Given the description of an element on the screen output the (x, y) to click on. 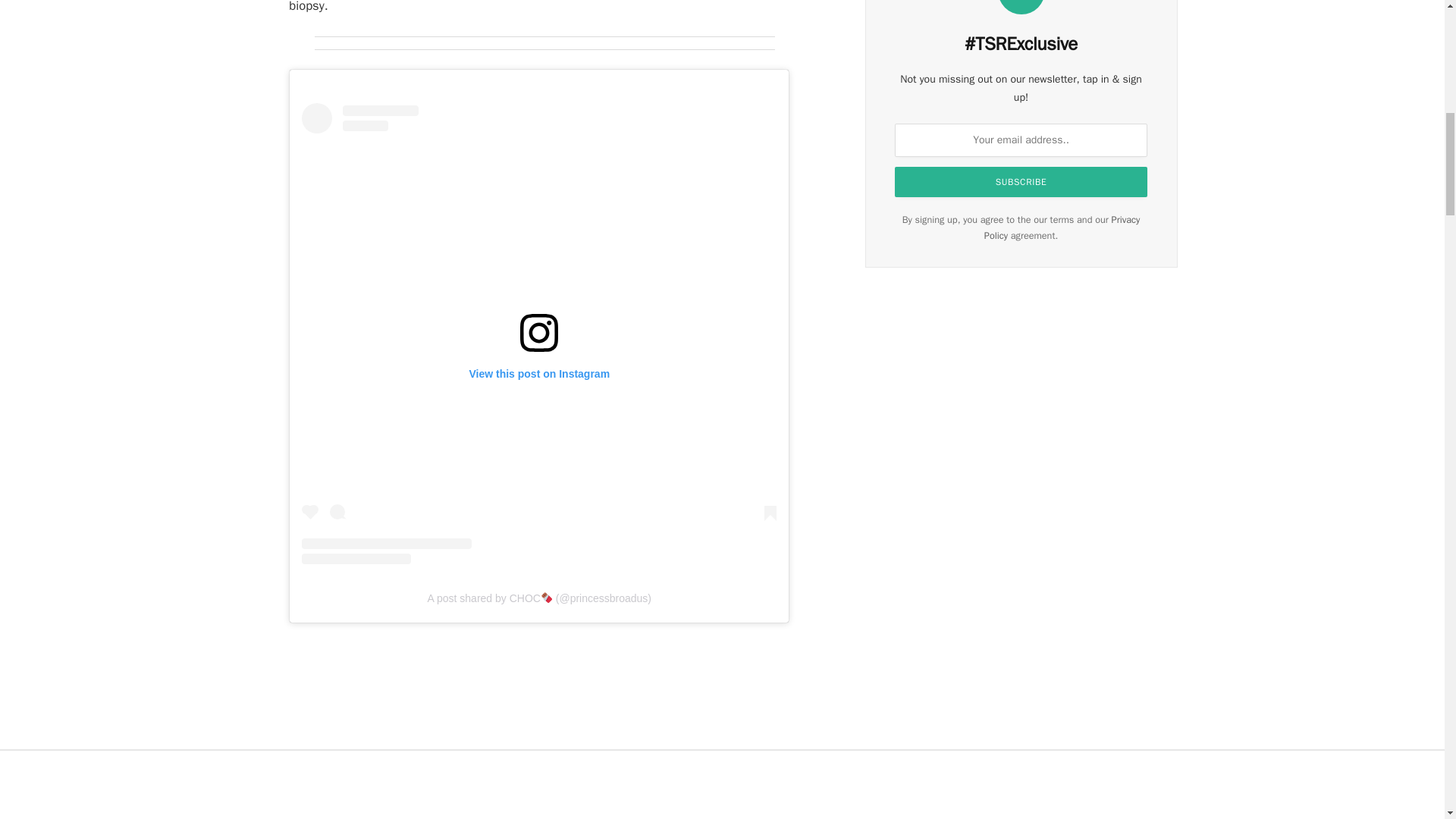
Subscribe (1021, 182)
